Given the description of an element on the screen output the (x, y) to click on. 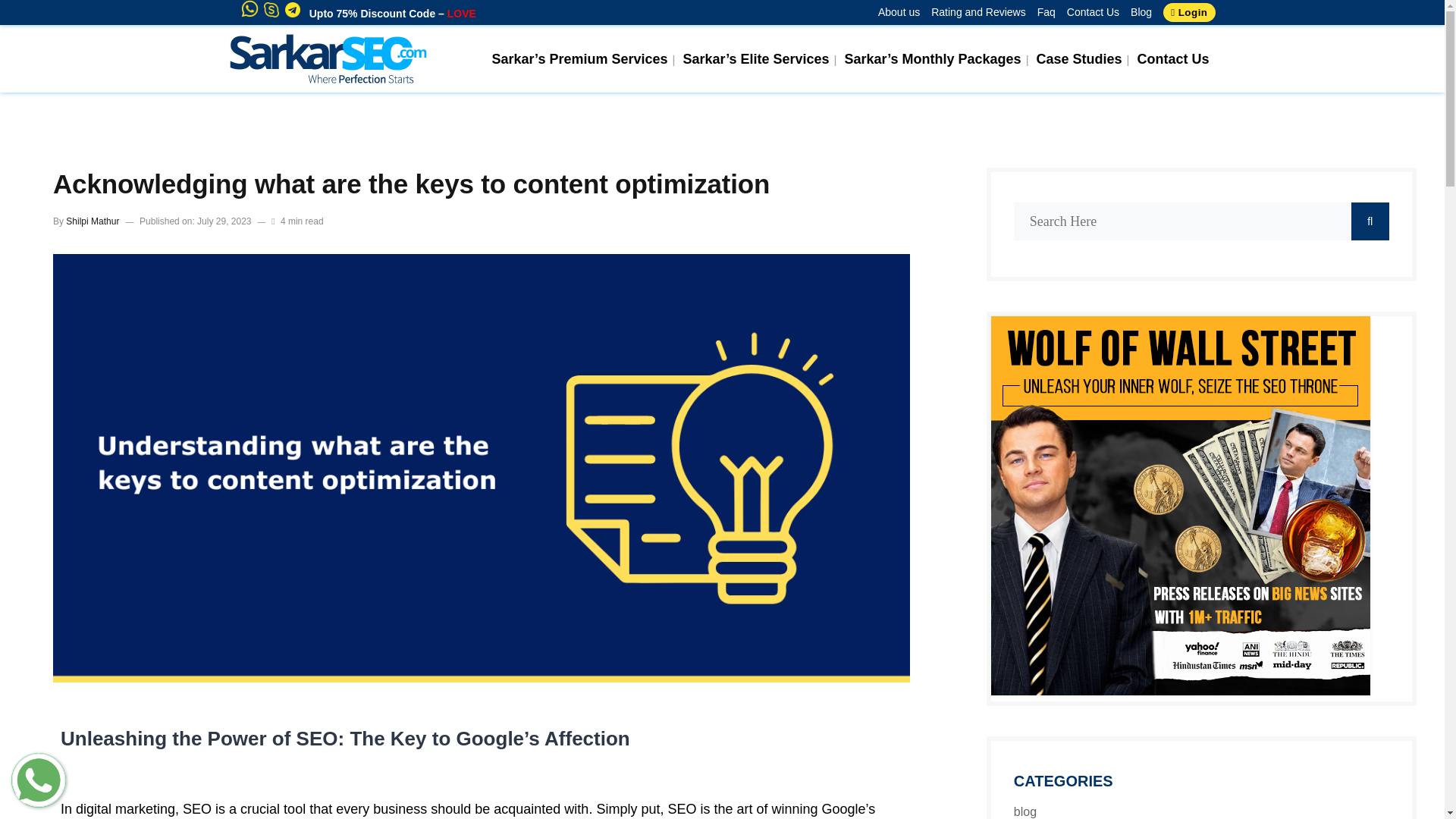
About us (893, 12)
Login (1188, 12)
Contact Us (1087, 12)
Blog (1135, 12)
Opens a widget where you can chat to one of our agents (1386, 792)
Contact Us (1172, 58)
Case Studies (1079, 58)
Rating and Reviews (973, 12)
Login (1188, 12)
Faq (1040, 12)
